Given the description of an element on the screen output the (x, y) to click on. 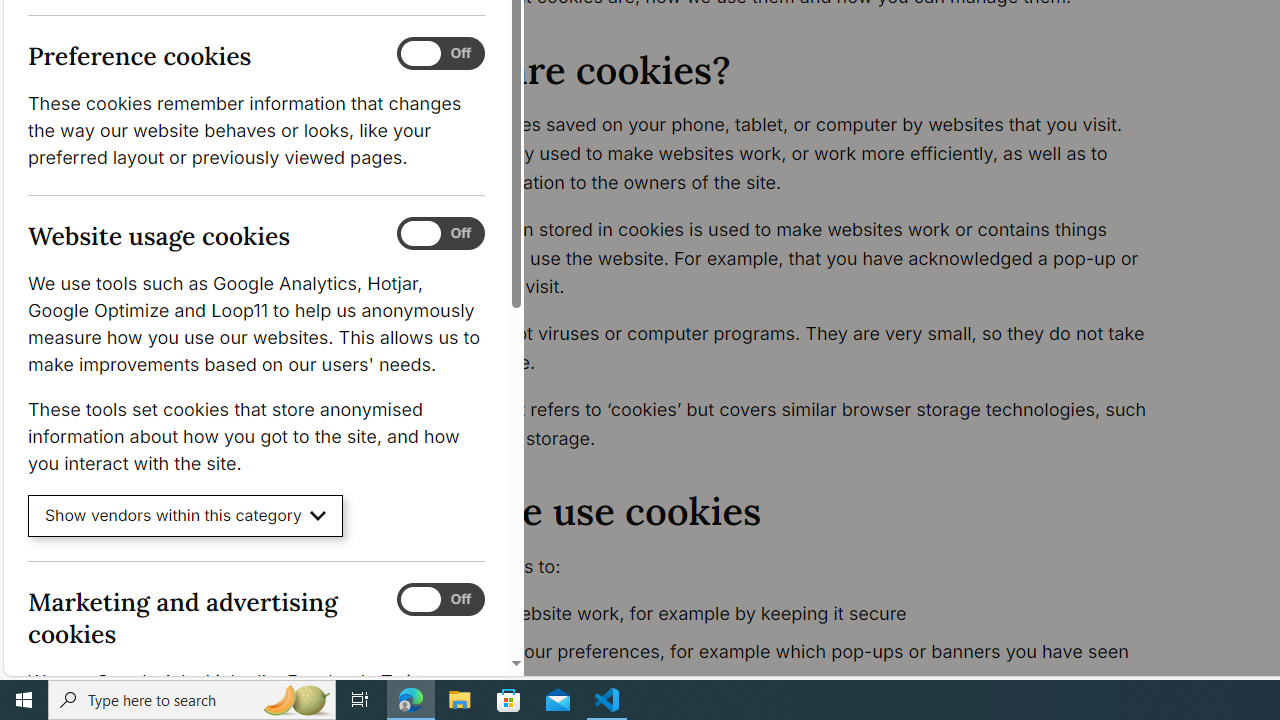
make our website work, for example by keeping it secure (796, 614)
Show vendors within this category (185, 516)
Marketing and advertising cookies (440, 599)
Website usage cookies (440, 233)
Preference cookies (440, 53)
